Given the description of an element on the screen output the (x, y) to click on. 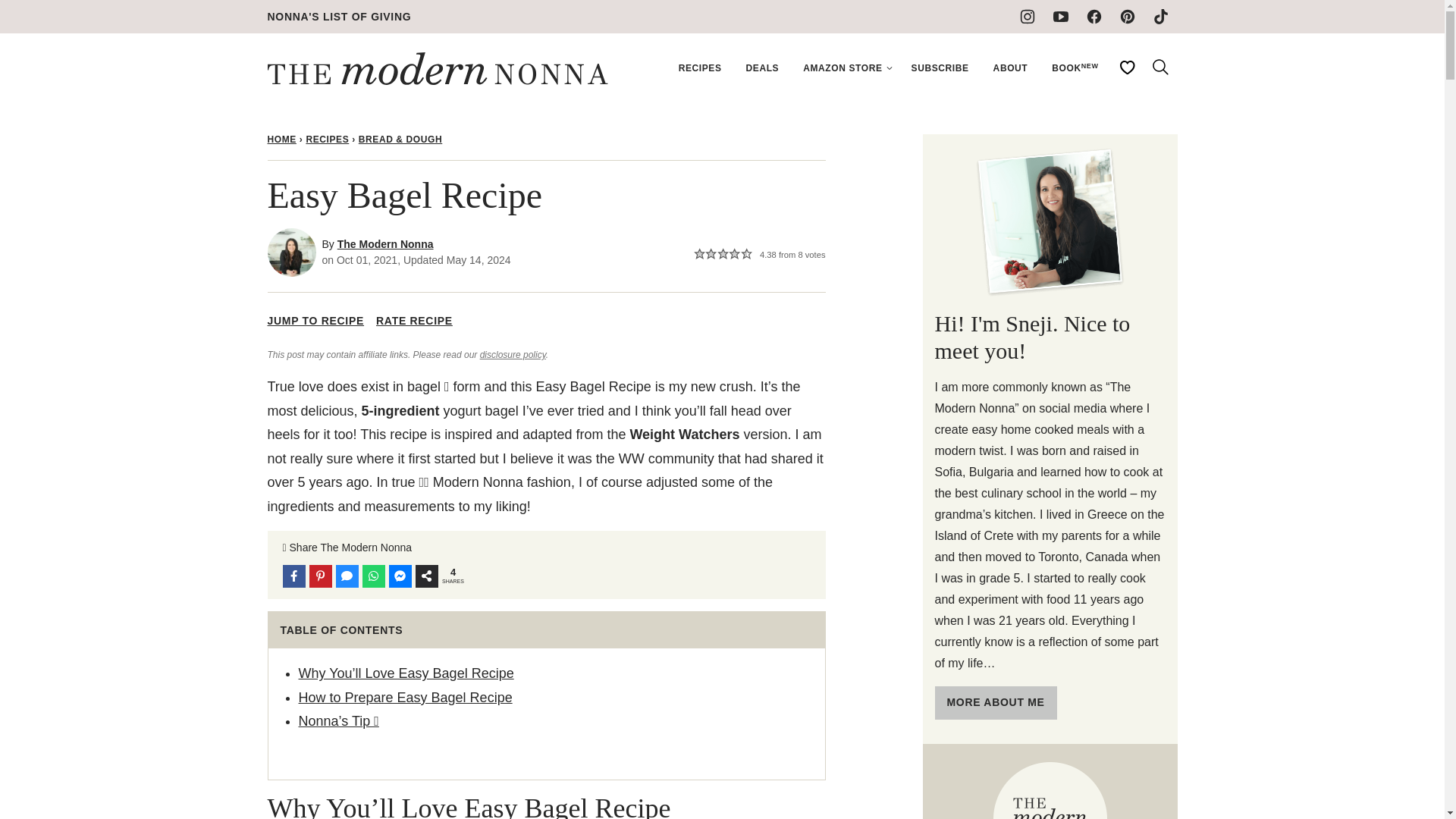
disclosure policy (513, 354)
JUMP TO RECIPE (315, 321)
SUBSCRIBE (940, 67)
HOME (280, 139)
RATE RECIPE (413, 321)
RECIPES (327, 139)
ABOUT (1011, 67)
The Modern Nonna (385, 244)
My Favorites (1125, 67)
How to Prepare Easy Bagel Recipe (405, 697)
